Given the description of an element on the screen output the (x, y) to click on. 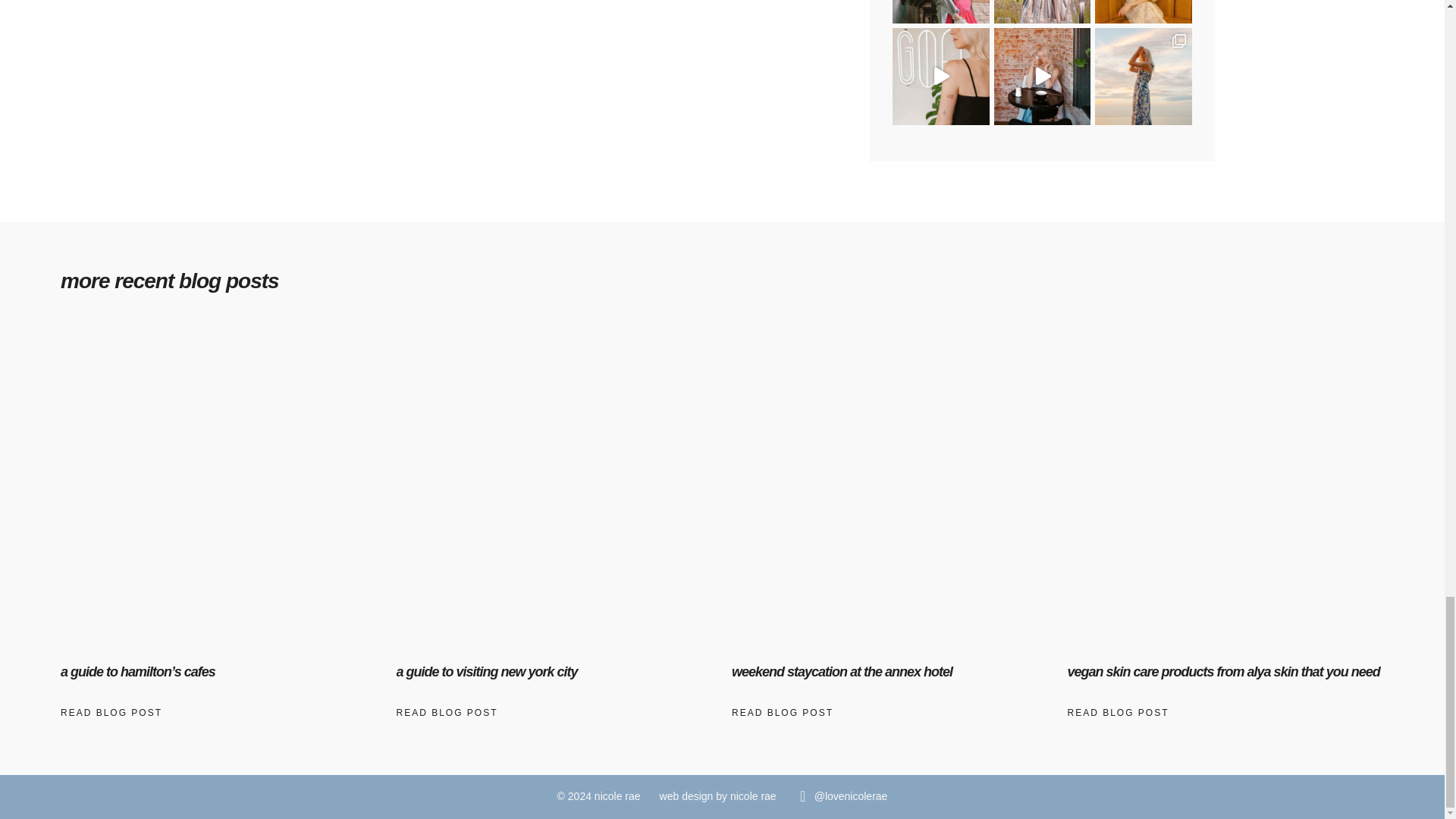
lovenicolerae blogger instagram (802, 795)
Nicole Rae instagram (850, 796)
Nicole Rae hamilton blogger website blog (598, 796)
web design by Nicole Rae (717, 796)
